Given the description of an element on the screen output the (x, y) to click on. 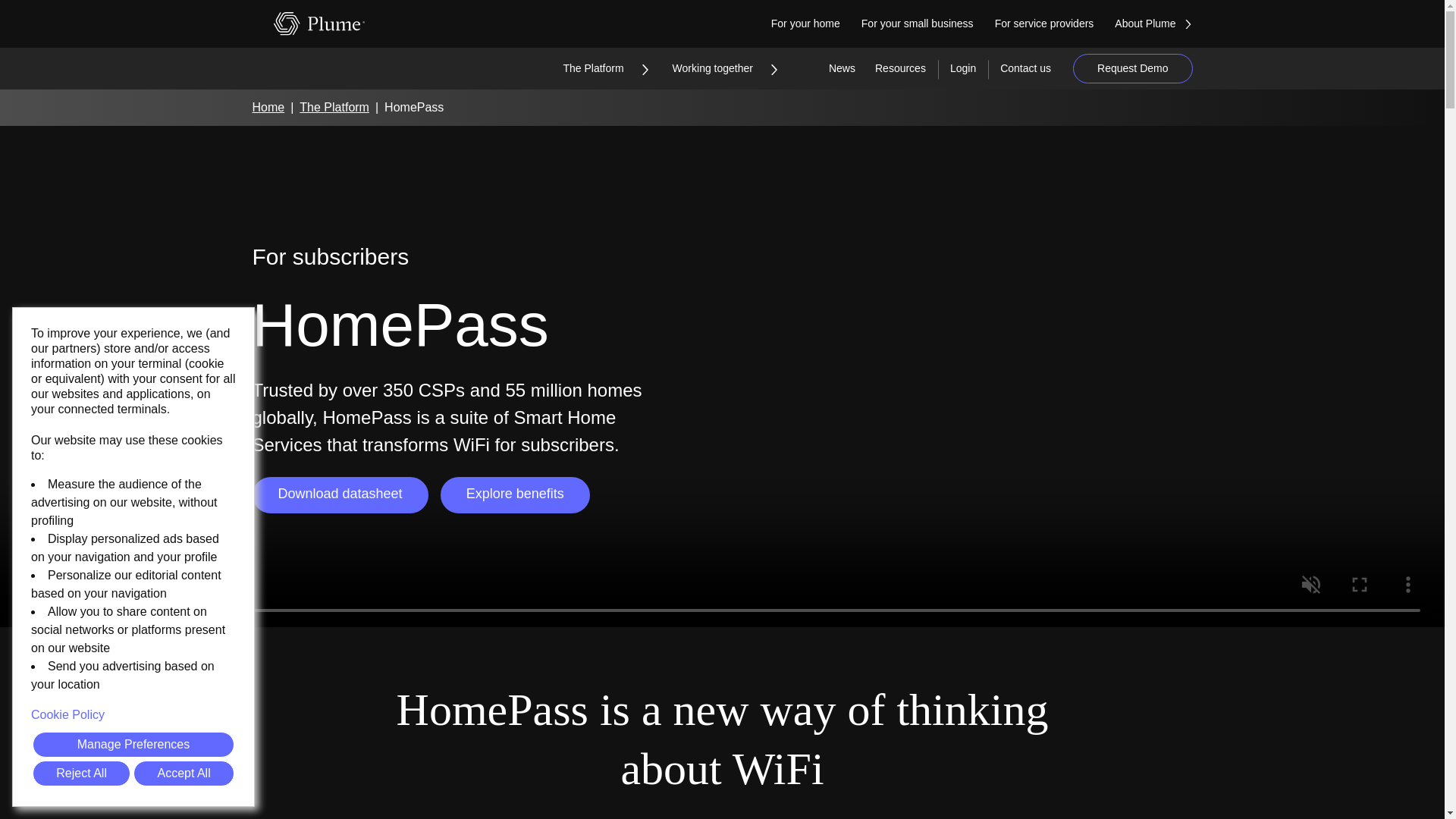
Reject All (81, 773)
For your home (816, 23)
For service providers (1054, 23)
About Plume (1163, 23)
For service providers (1054, 23)
Cookie Policy (132, 714)
The Platform (604, 68)
For your home (816, 23)
Accept All (183, 773)
About Plume (1163, 23)
